Given the description of an element on the screen output the (x, y) to click on. 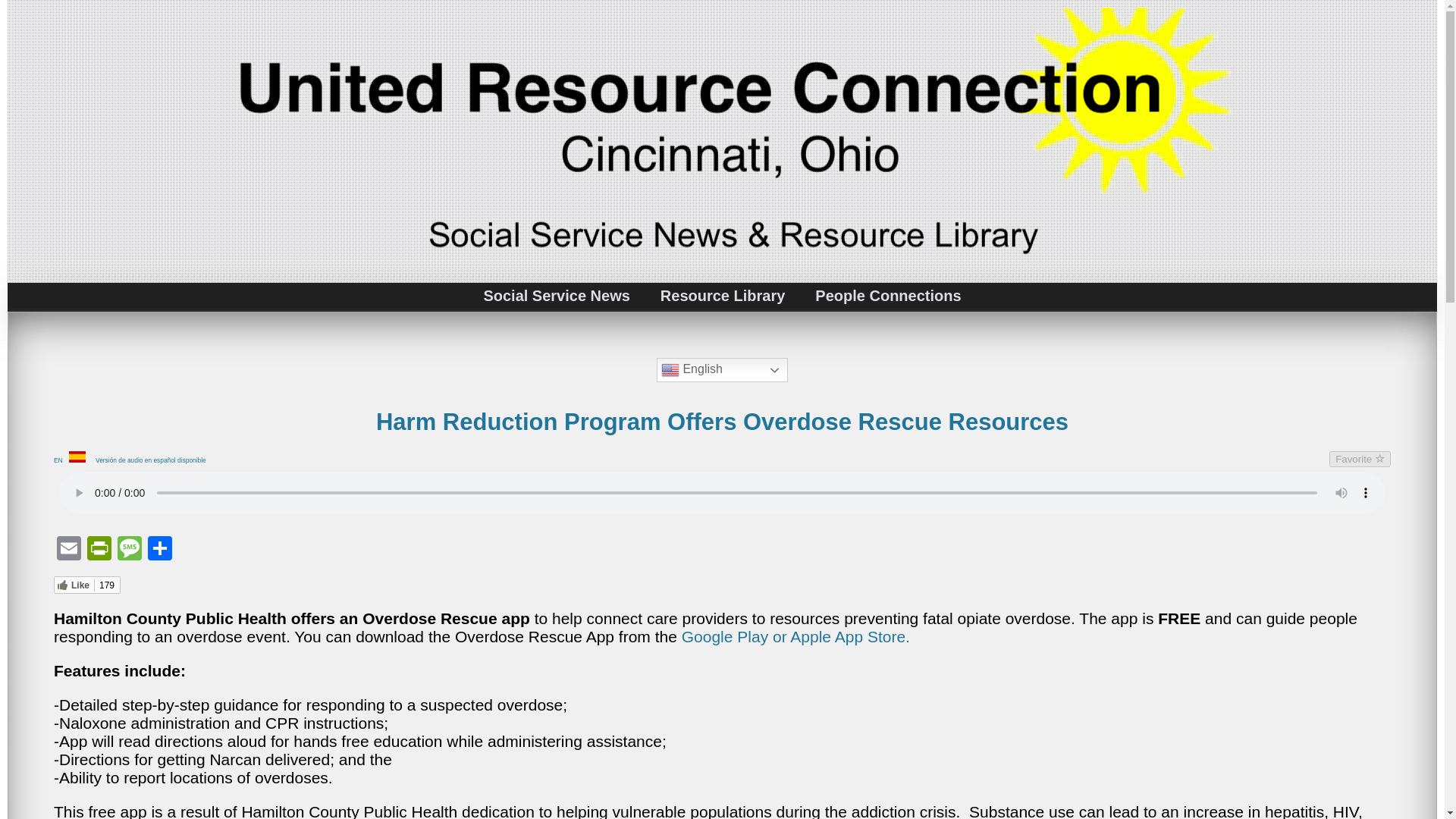
Favorite (1359, 458)
Resource Library (722, 295)
Message (129, 550)
Share (159, 550)
Email (68, 550)
PrintFriendly (99, 550)
People Connections (887, 295)
Google Play or Apple App Store. (795, 636)
English (721, 369)
EN (60, 460)
Social Service News (556, 295)
Harm Reduction Program Offers Overdose Rescue Resources (721, 421)
